Given the description of an element on the screen output the (x, y) to click on. 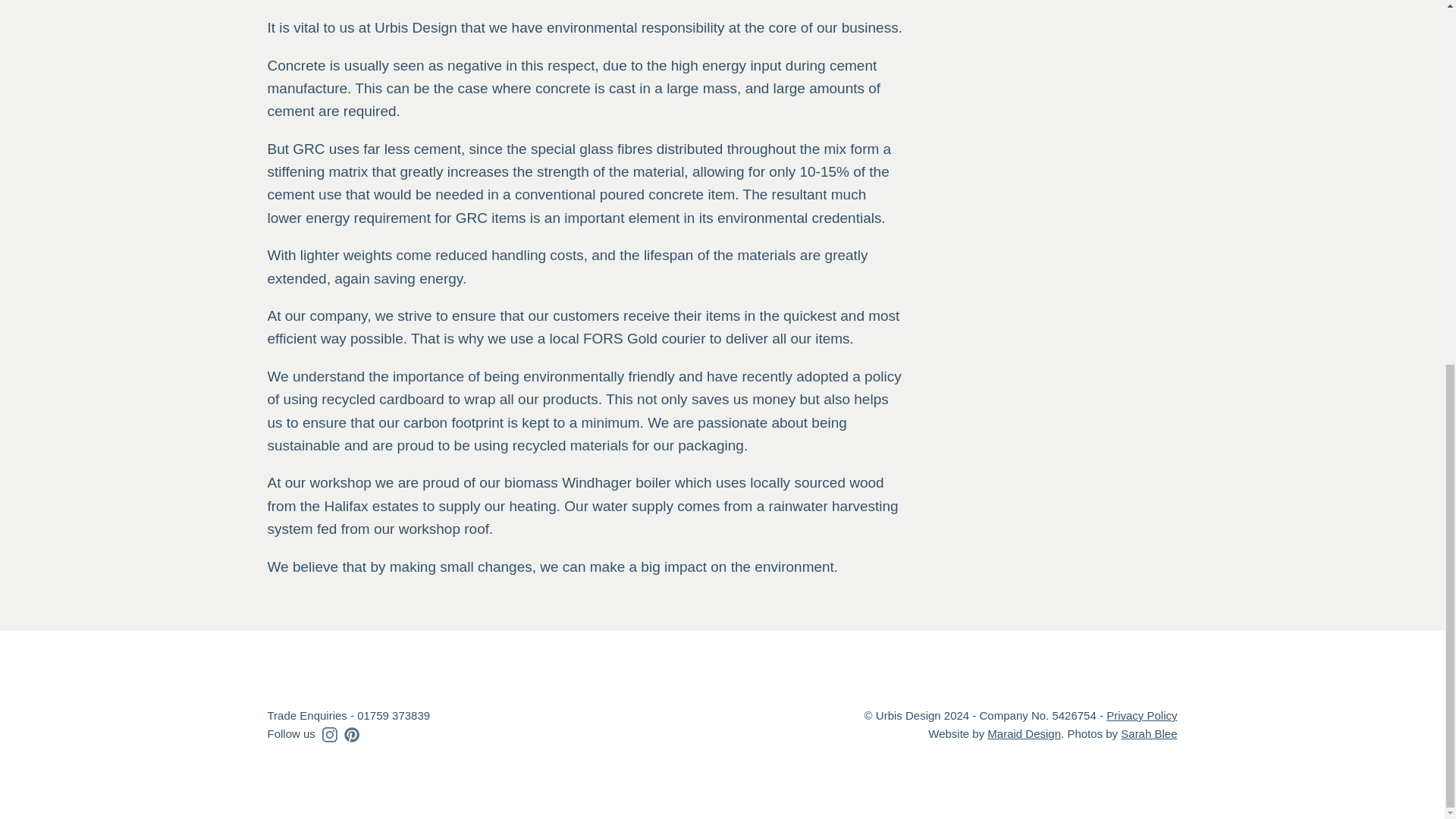
Privacy Policy (1141, 715)
Maraid Design (1024, 733)
Sarah Blee (1148, 733)
